Given the description of an element on the screen output the (x, y) to click on. 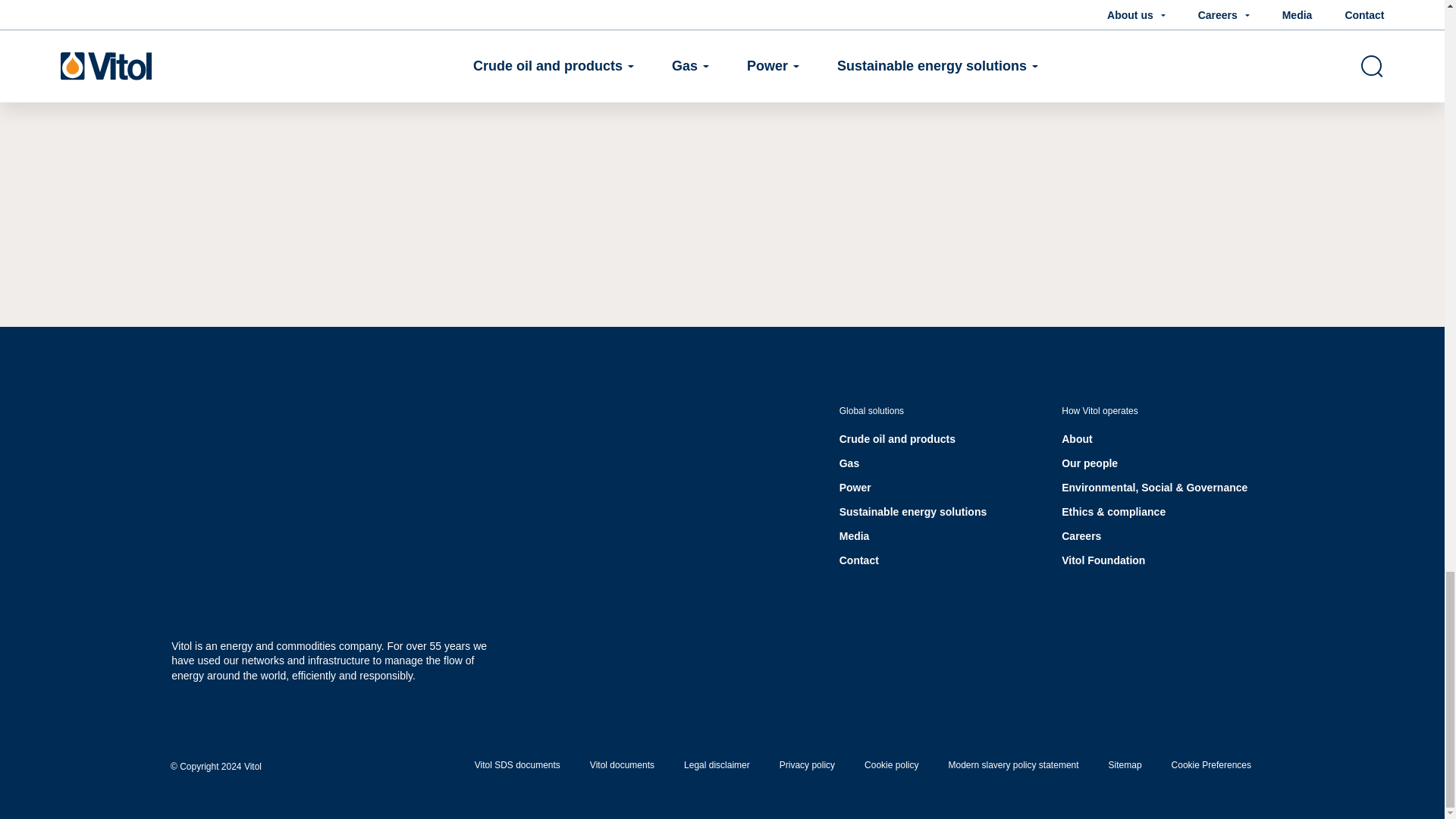
Vitol SDS documents (517, 765)
Cookie policy (891, 765)
Cookie Preferences (1211, 765)
Vitol documents (621, 765)
Modern slavery policy statement (1012, 765)
Legal disclaimer (716, 765)
Privacy policy (806, 765)
Sitemap (1124, 765)
